Given the description of an element on the screen output the (x, y) to click on. 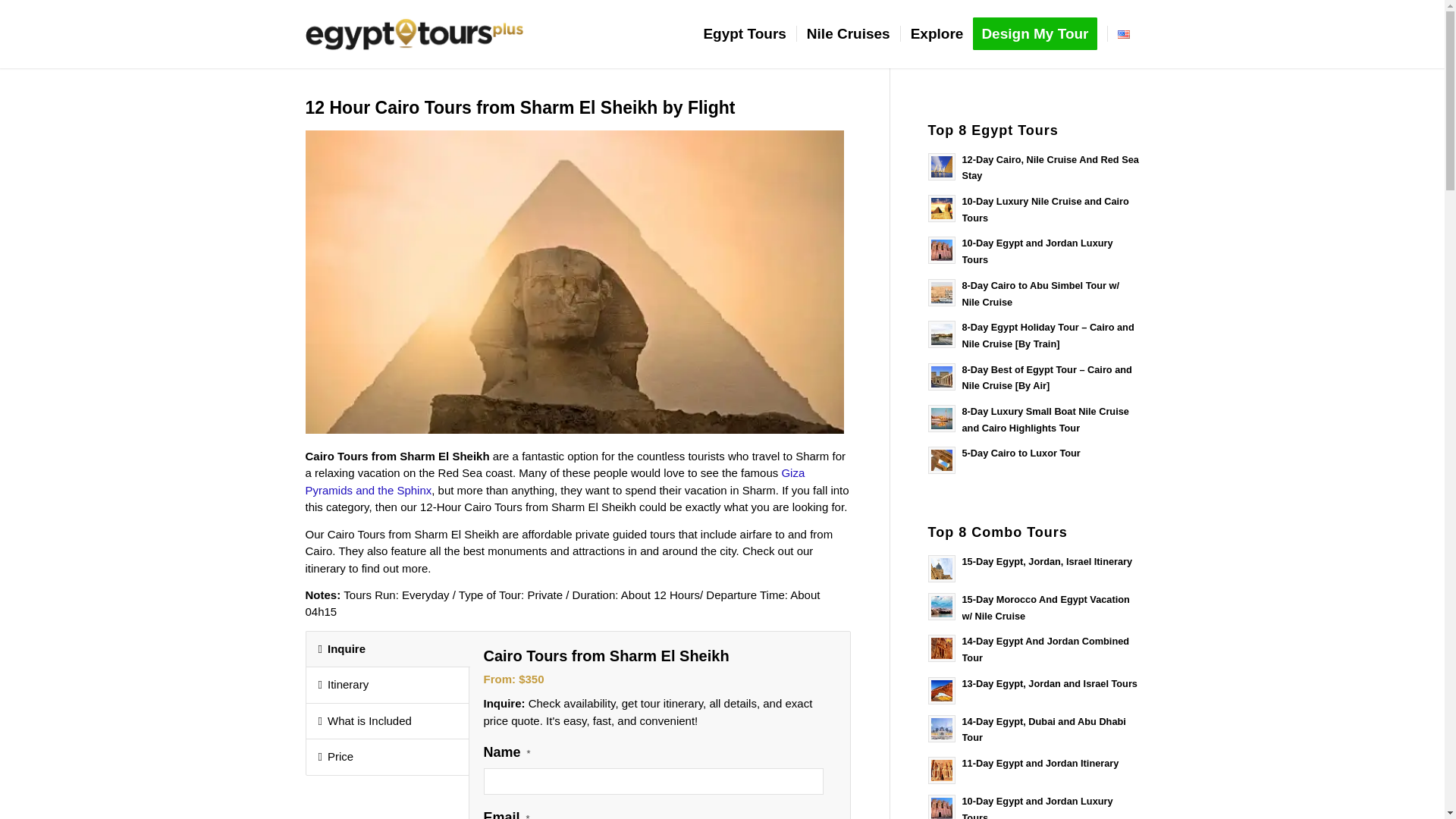
Egypt Tours Plus (413, 33)
Egypt Tours (743, 33)
Nile Cruises (847, 33)
